Given the description of an element on the screen output the (x, y) to click on. 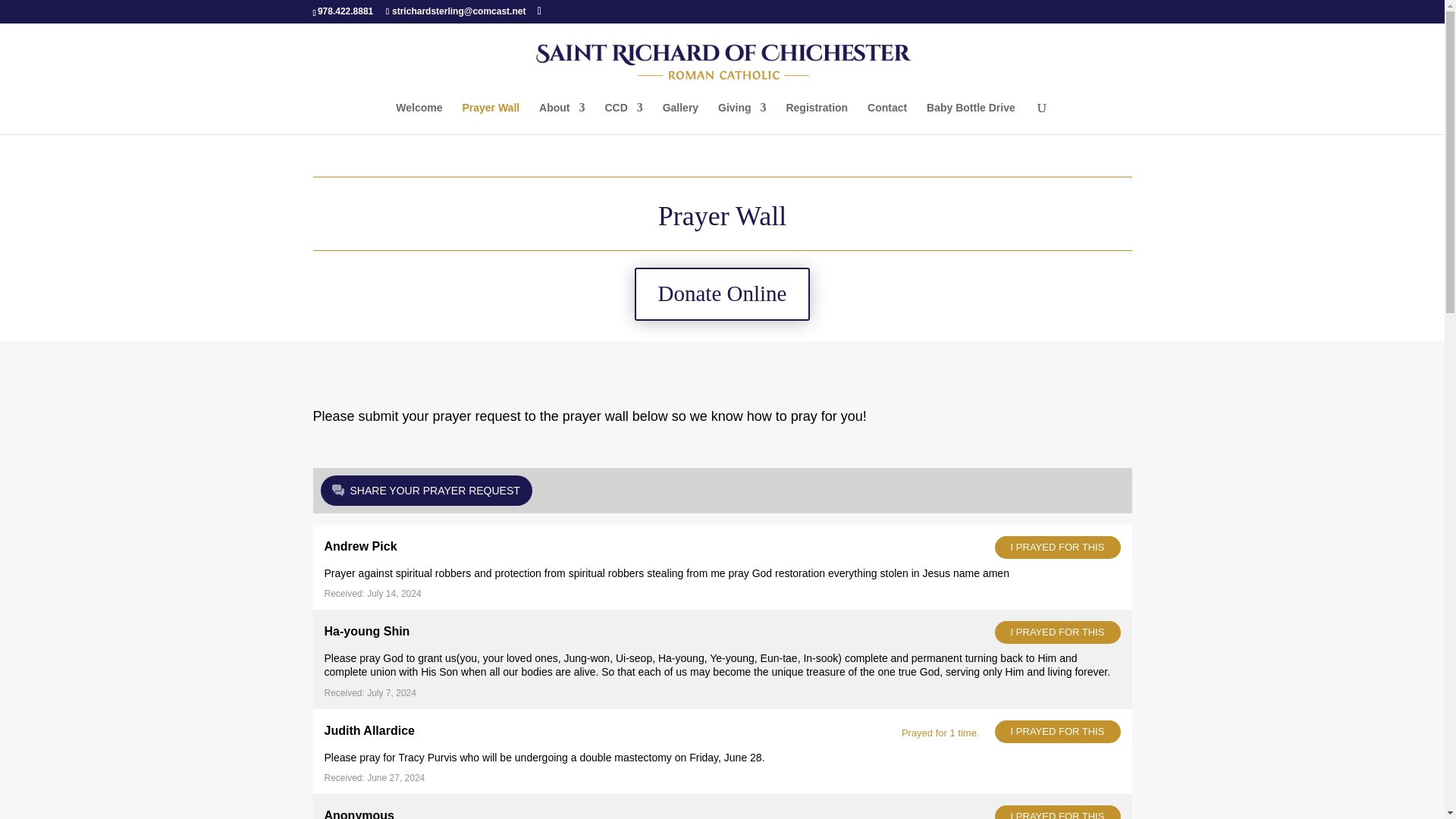
Registration (816, 118)
Baby Bottle Drive (970, 118)
About (561, 118)
Prayer Wall (490, 118)
Giving (742, 118)
Contact (887, 118)
Welcome (419, 118)
CCD (623, 118)
Gallery (680, 118)
